Given the description of an element on the screen output the (x, y) to click on. 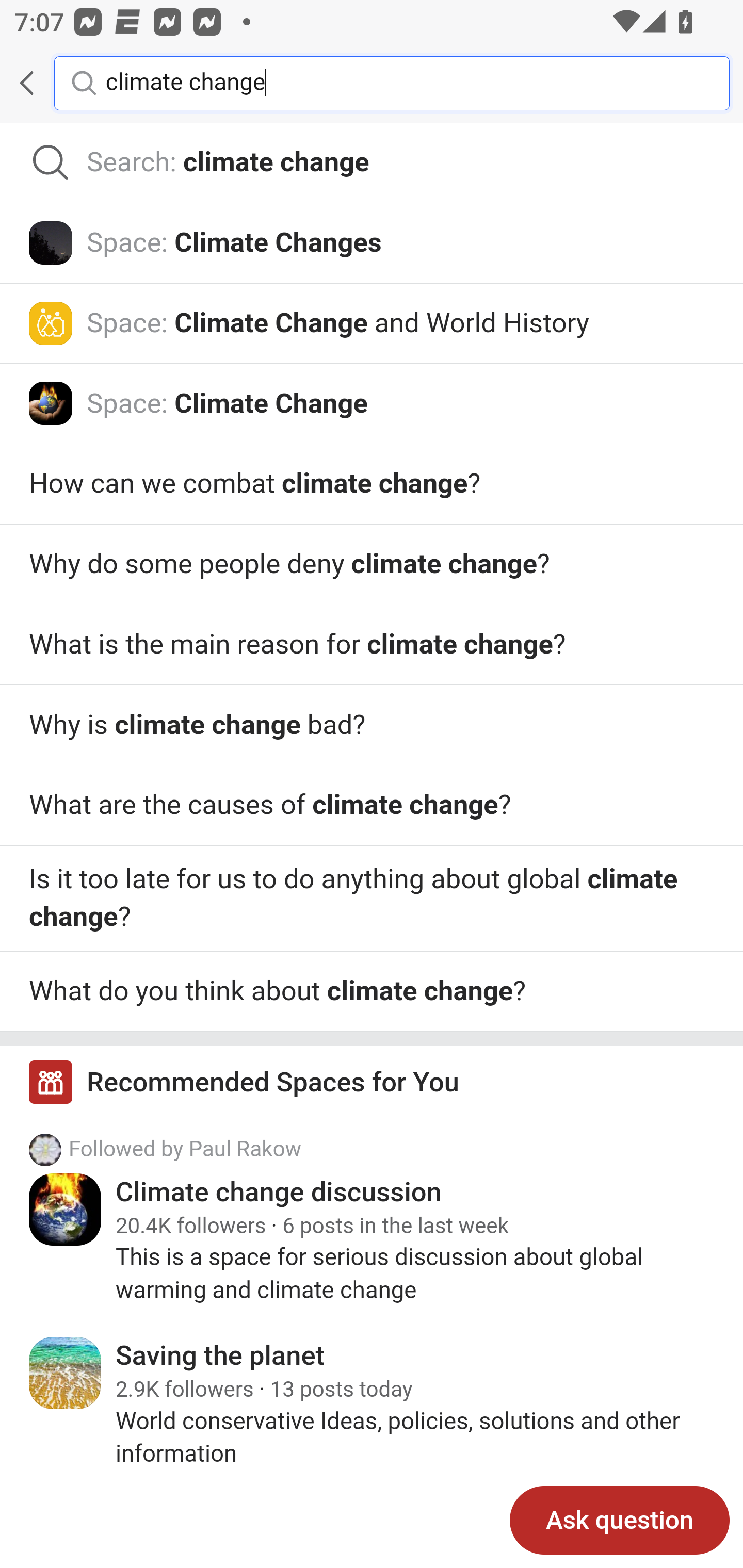
Me Home Search Add (371, 82)
climate change (402, 82)
Search: climea (371, 162)
Icon for Climate Changes (50, 241)
Icon for Climate Change and World History (50, 322)
Icon for Climate Change (50, 403)
How can we combat climate change? (371, 484)
How can I become a data scientist? (371, 724)
What are some of the best life-changing books? (371, 805)
What is the main reason for climate change? (371, 899)
How can I become fluent in English? (371, 991)
Icon for Climate change discussion (65, 1209)
Icon for Saving the planet (65, 1372)
